Given the description of an element on the screen output the (x, y) to click on. 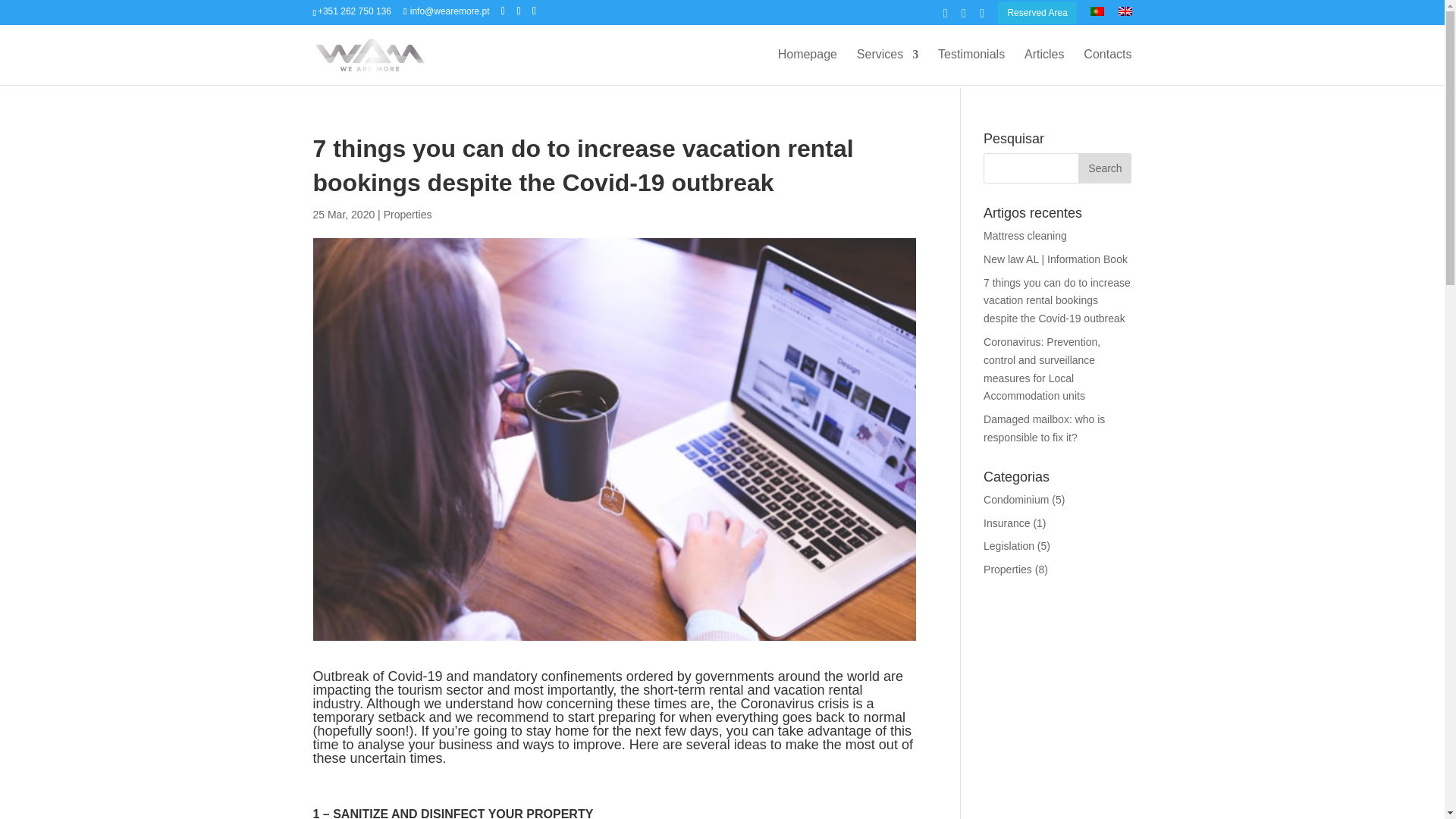
Homepage (807, 67)
Services (887, 67)
Properties (408, 214)
Contacts (1107, 67)
Testimonials (970, 67)
Search (1104, 168)
Articles (1044, 67)
Reserved Area (1036, 12)
